Given the description of an element on the screen output the (x, y) to click on. 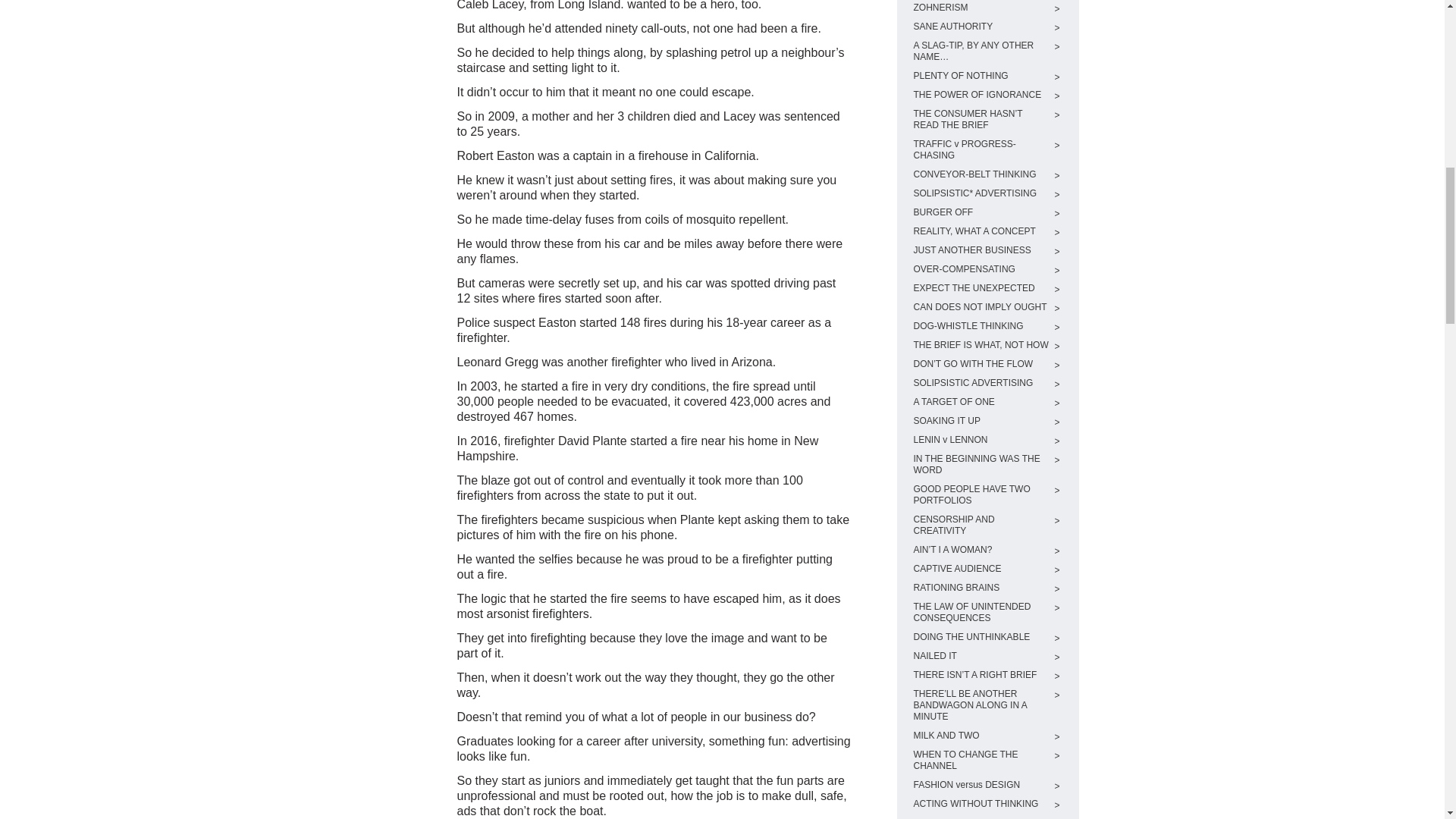
SANE AUTHORITY (980, 26)
CAN DOES NOT IMPLY OUGHT (980, 307)
THE POWER OF IGNORANCE (980, 94)
DOG-WHISTLE THINKING (980, 326)
TRAFFIC v PROGRESS-CHASING (980, 149)
OVER-COMPENSATING (980, 269)
REALITY, WHAT A CONCEPT (980, 231)
EXPECT THE UNEXPECTED (980, 288)
CONVEYOR-BELT THINKING (980, 174)
ZOHNERISM (980, 7)
